Given the description of an element on the screen output the (x, y) to click on. 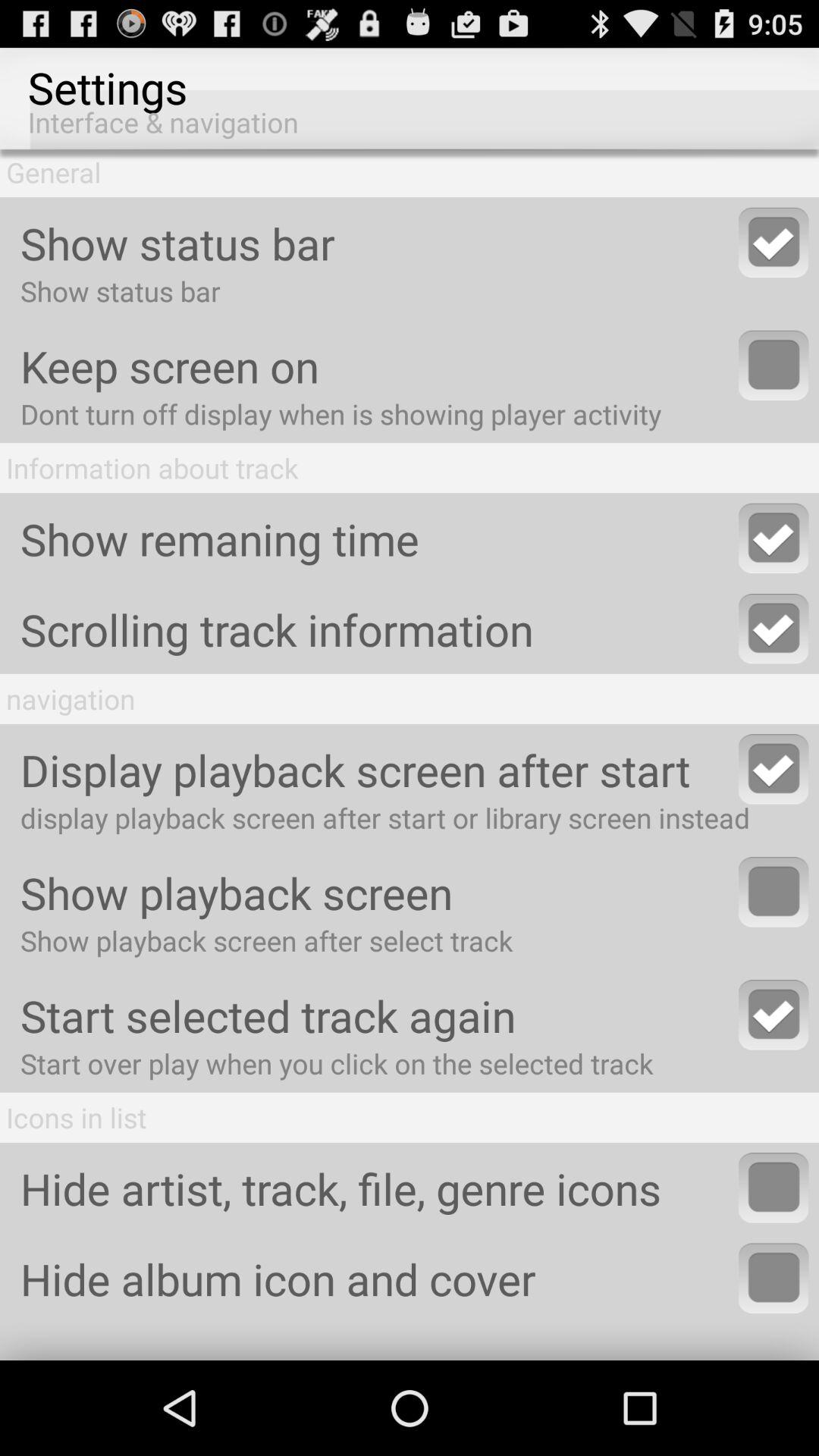
track scroll (773, 628)
